Given the description of an element on the screen output the (x, y) to click on. 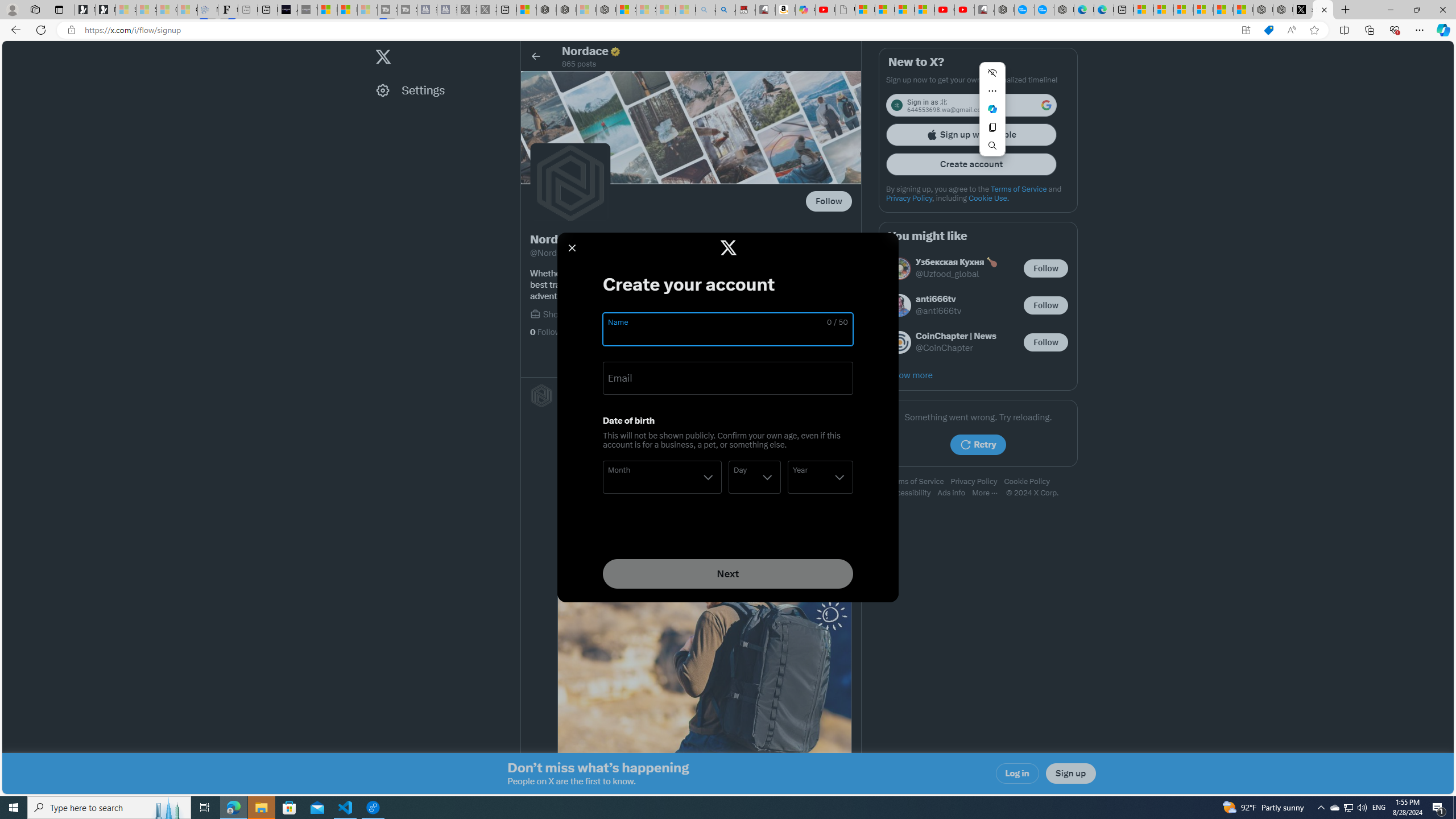
Log in (1017, 773)
What's the best AI voice generator? - voice.ai - Sleeping (306, 9)
AI Voice Changer for PC and Mac - Voice.ai (287, 9)
